Given the description of an element on the screen output the (x, y) to click on. 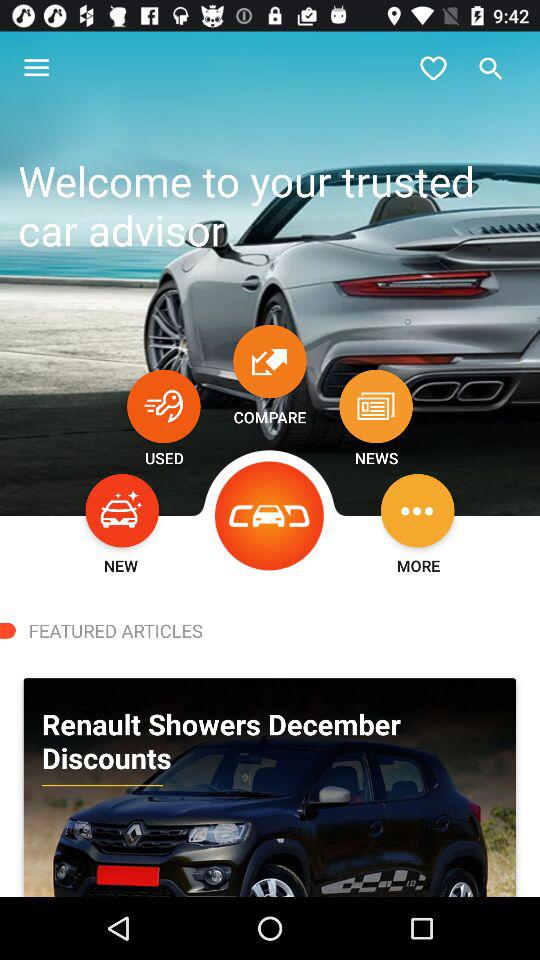
go to news (375, 406)
